Given the description of an element on the screen output the (x, y) to click on. 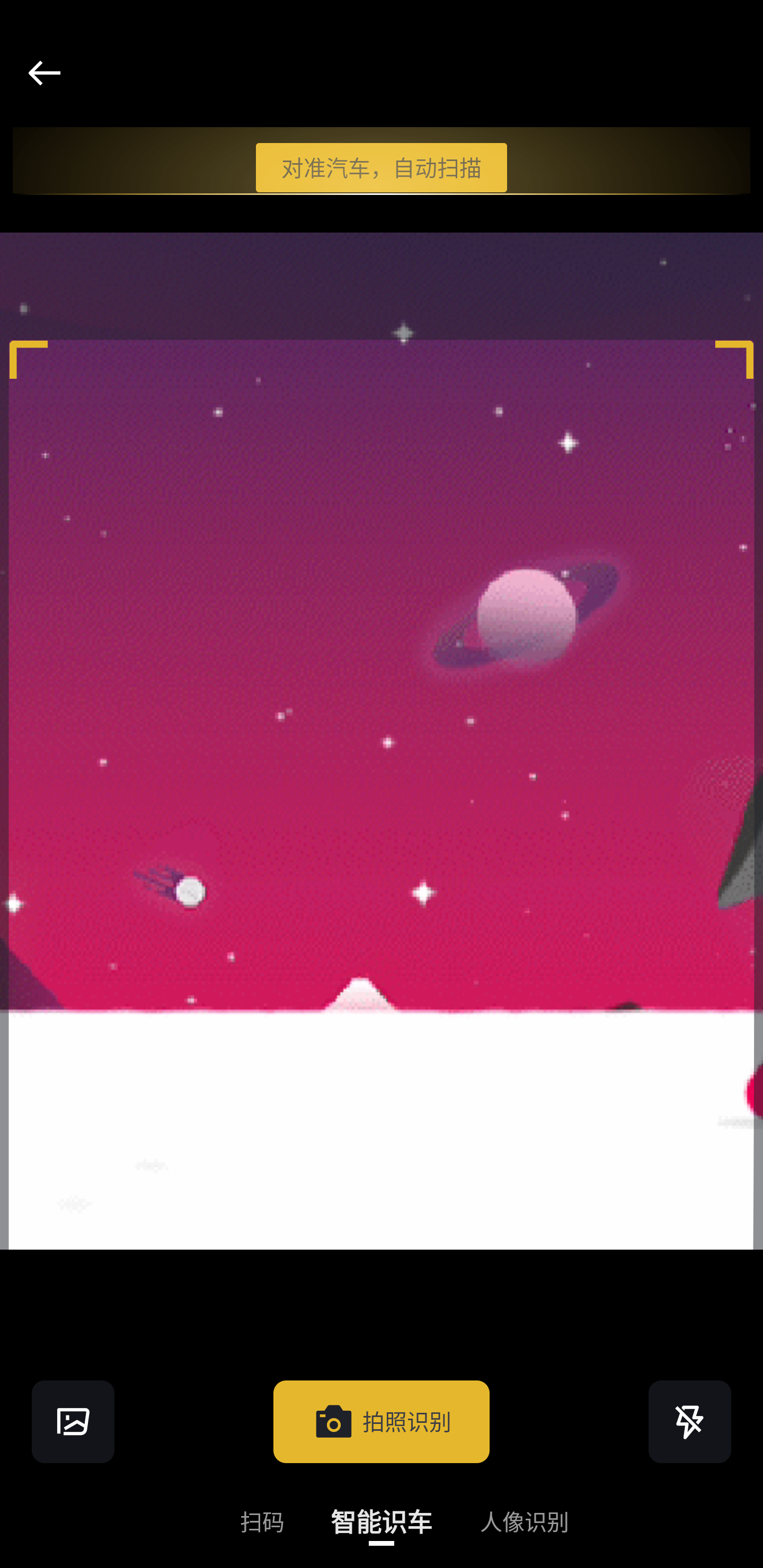
 (44, 72)
 (73, 1420)
拍照识别 (381, 1420)
 (689, 1420)
